Given the description of an element on the screen output the (x, y) to click on. 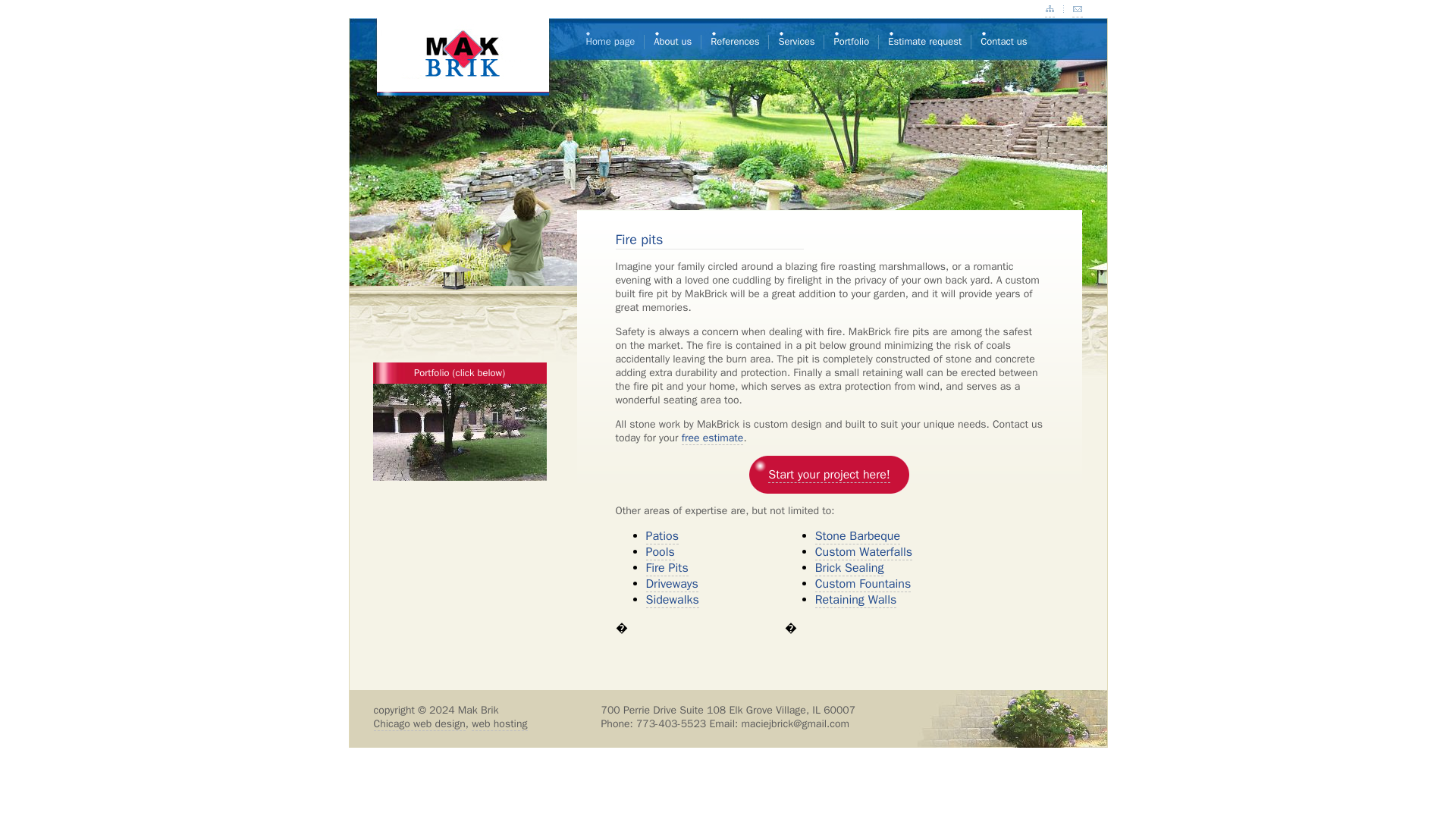
References (734, 39)
pool decks, chicago pool contruction (660, 552)
Estimate request (924, 39)
Retaining Walls (855, 600)
custom fire pits in chicago (667, 568)
Custom Fountains (863, 584)
Brick Sealing (849, 568)
Fire Pits (667, 568)
Patios (662, 536)
Chicago web design (418, 724)
